Given the description of an element on the screen output the (x, y) to click on. 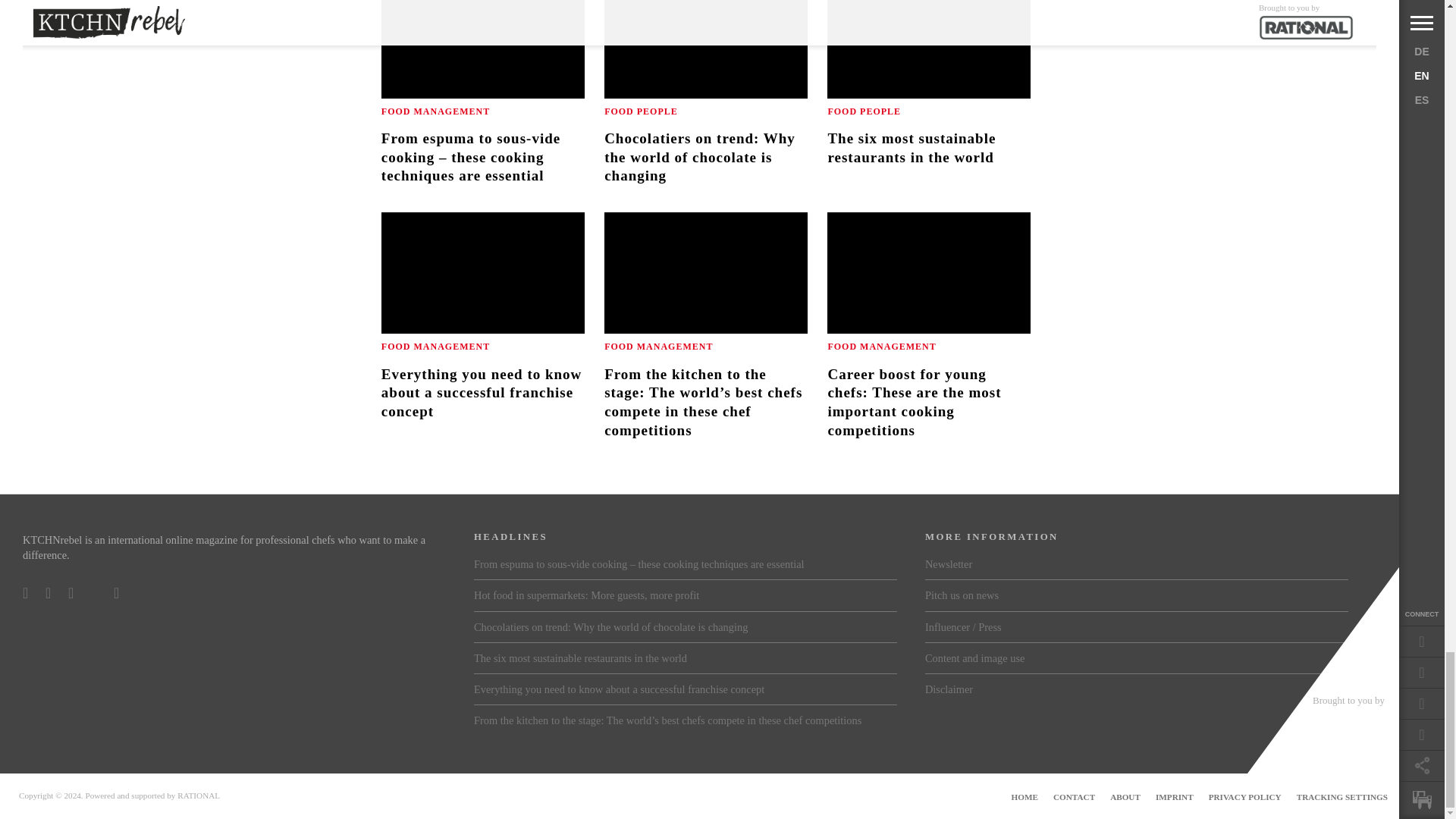
The six most sustainable restaurants in the world (928, 93)
